Given the description of an element on the screen output the (x, y) to click on. 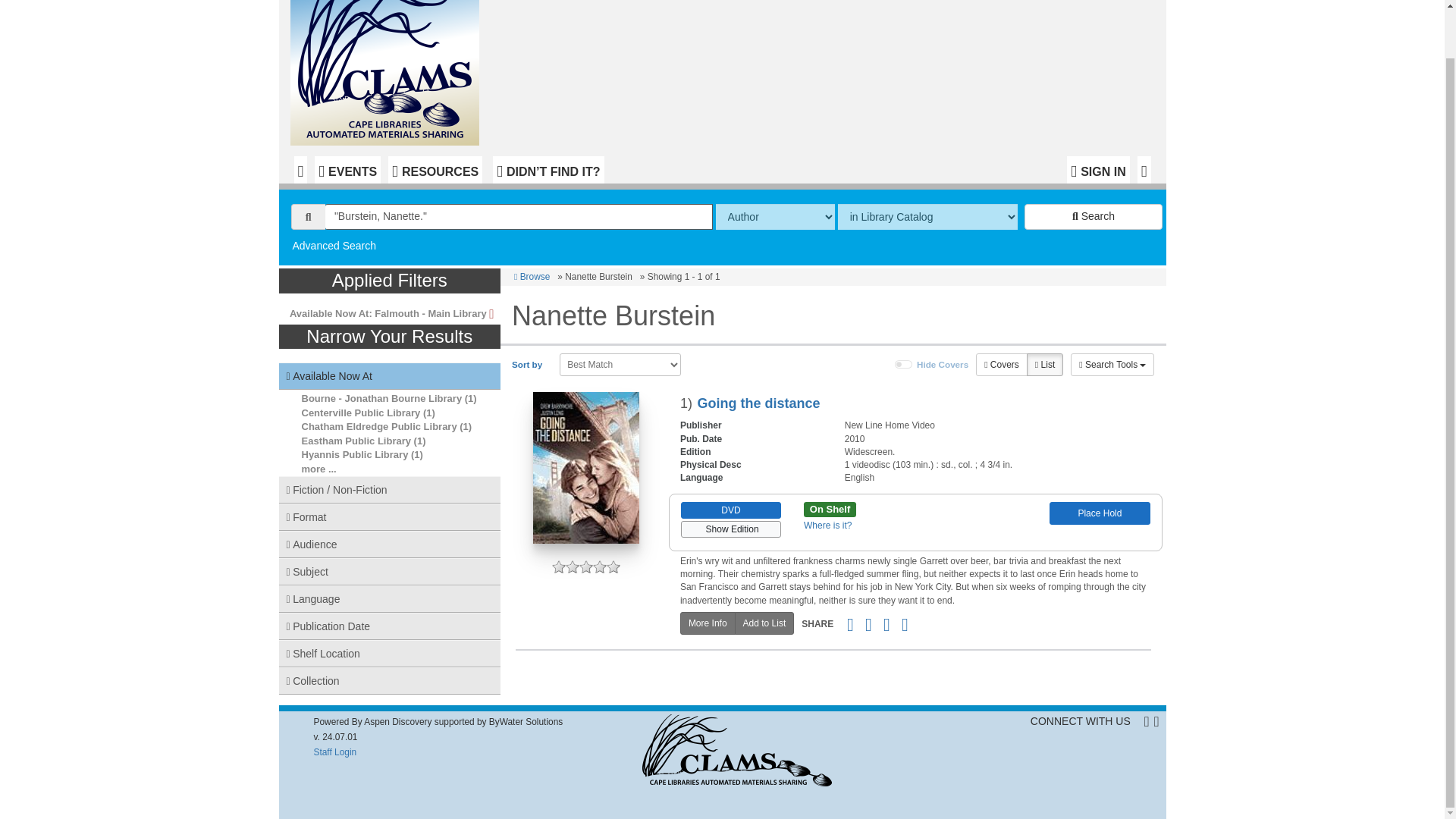
Eastham Public Library (356, 440)
Return to Catalog Home (387, 72)
EVENTS (347, 169)
Advanced Search (334, 245)
Hyannis Public Library (355, 454)
Bourne - Jonathan Bourne Library (382, 398)
 Search (1093, 216)
Chatham Eldredge Public Library (379, 426)
The method of searching. (775, 216)
on (903, 364)
"Burstein, Nanette." (518, 216)
Centerville Public Library (360, 412)
RESOURCES (434, 169)
SIGN IN (1098, 169)
